Given the description of an element on the screen output the (x, y) to click on. 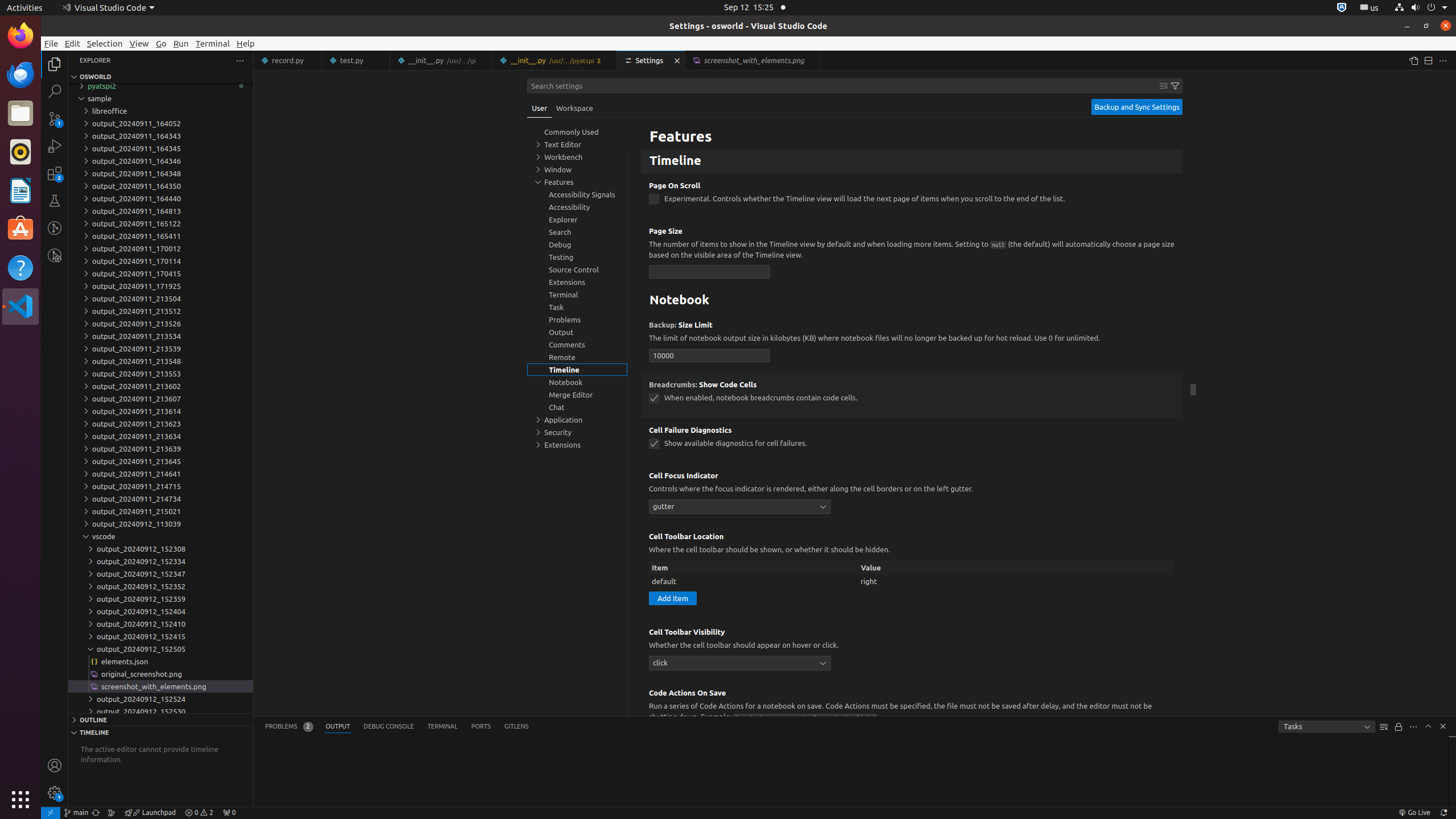
Remote, group Element type: tree-item (577, 356)
remote Element type: push-button (50, 812)
output_20240912_152334 Element type: tree-item (160, 561)
Notifications Element type: push-button (1443, 812)
output_20240911_164346 Element type: tree-item (160, 160)
